Given the description of an element on the screen output the (x, y) to click on. 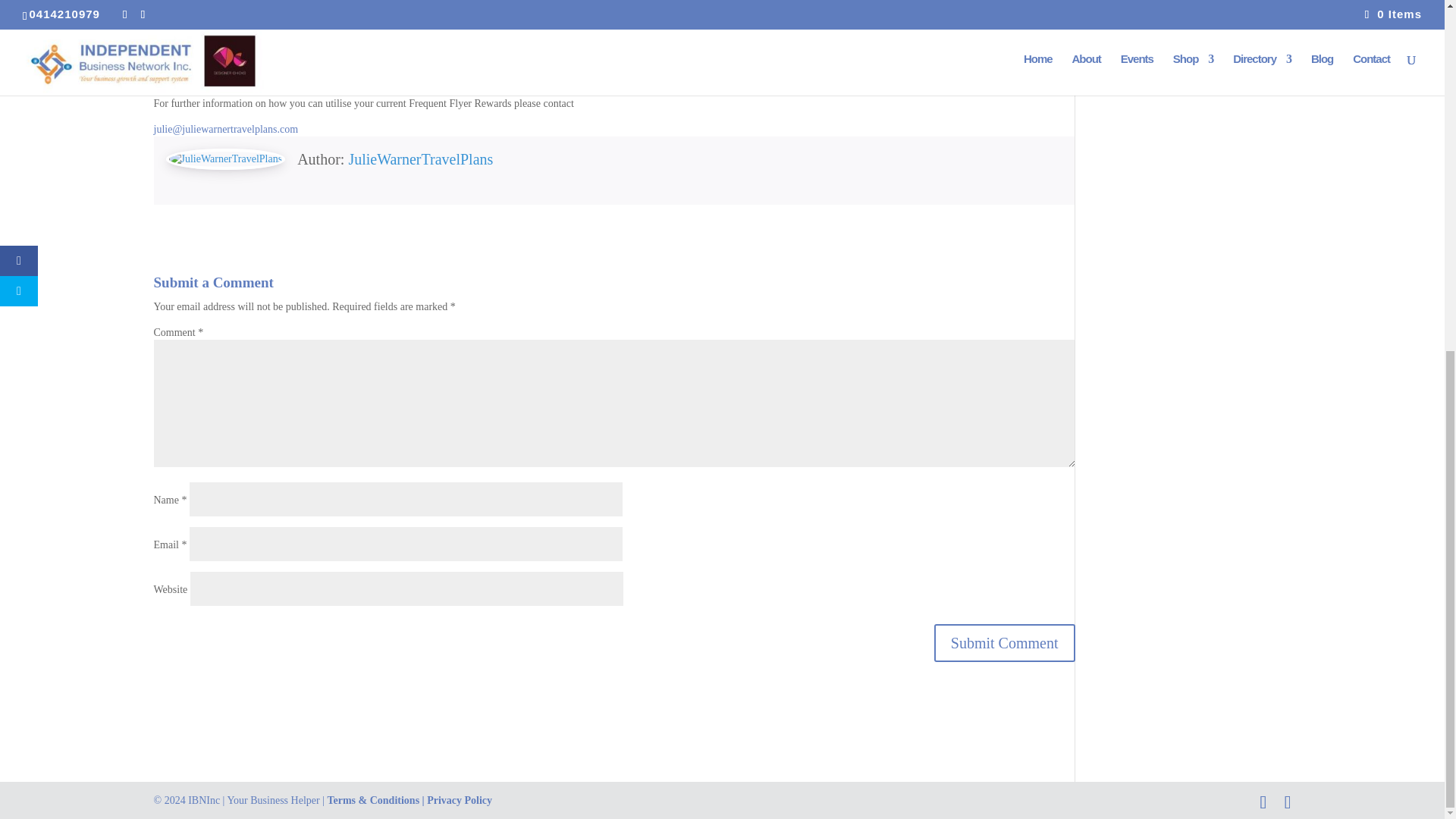
Submit Comment (1004, 642)
JulieWarnerTravelPlans (420, 158)
Submit Comment (1004, 642)
Privacy Policy (459, 799)
